Given the description of an element on the screen output the (x, y) to click on. 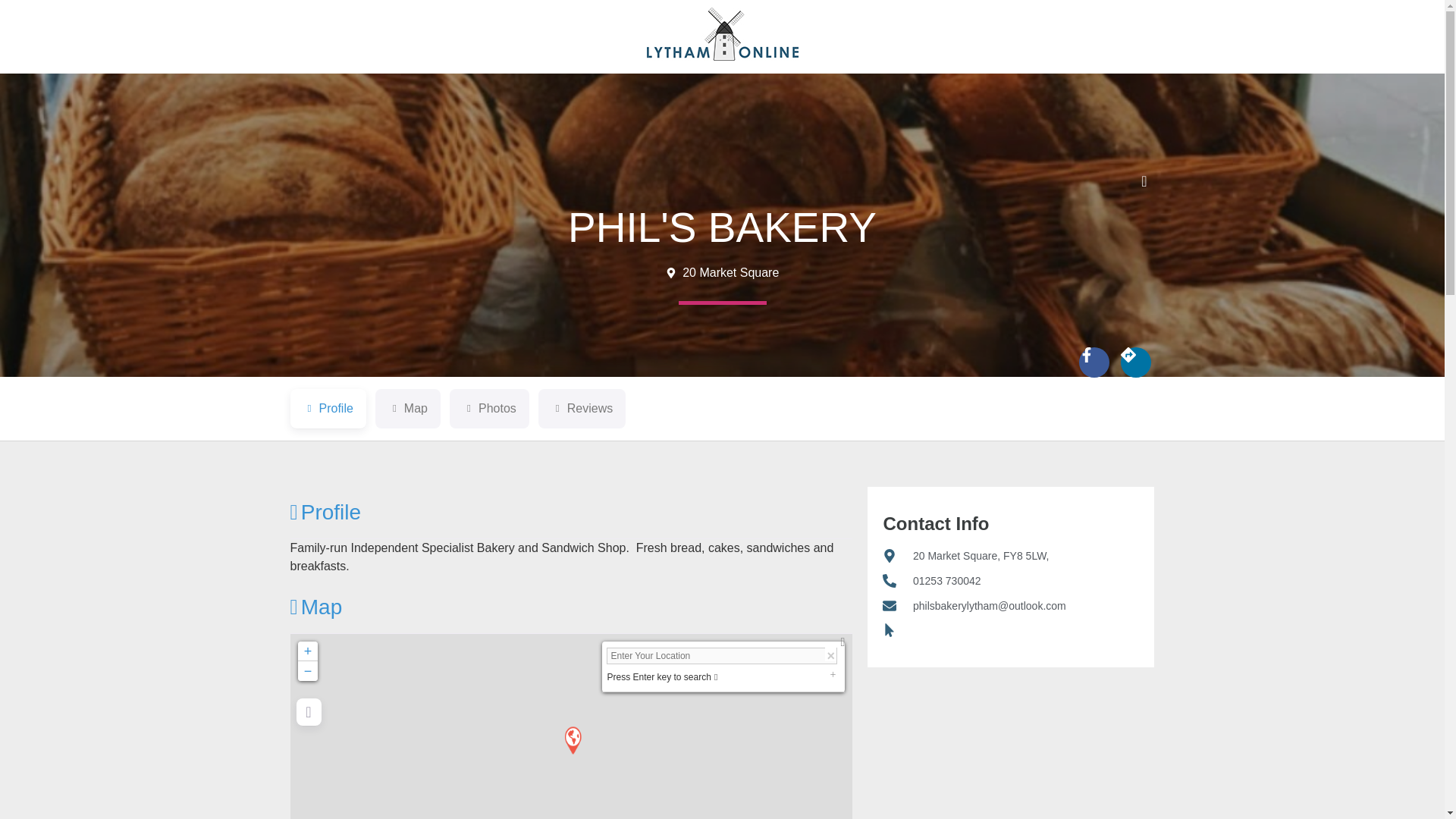
Map (315, 607)
Zoom out (307, 670)
Photos (489, 408)
Reviews (582, 408)
Profile (325, 512)
Reviews (582, 408)
Map (408, 408)
Photos (489, 408)
Map (408, 408)
Profile (327, 408)
Profile (327, 408)
Zoom in (307, 650)
